Given the description of an element on the screen output the (x, y) to click on. 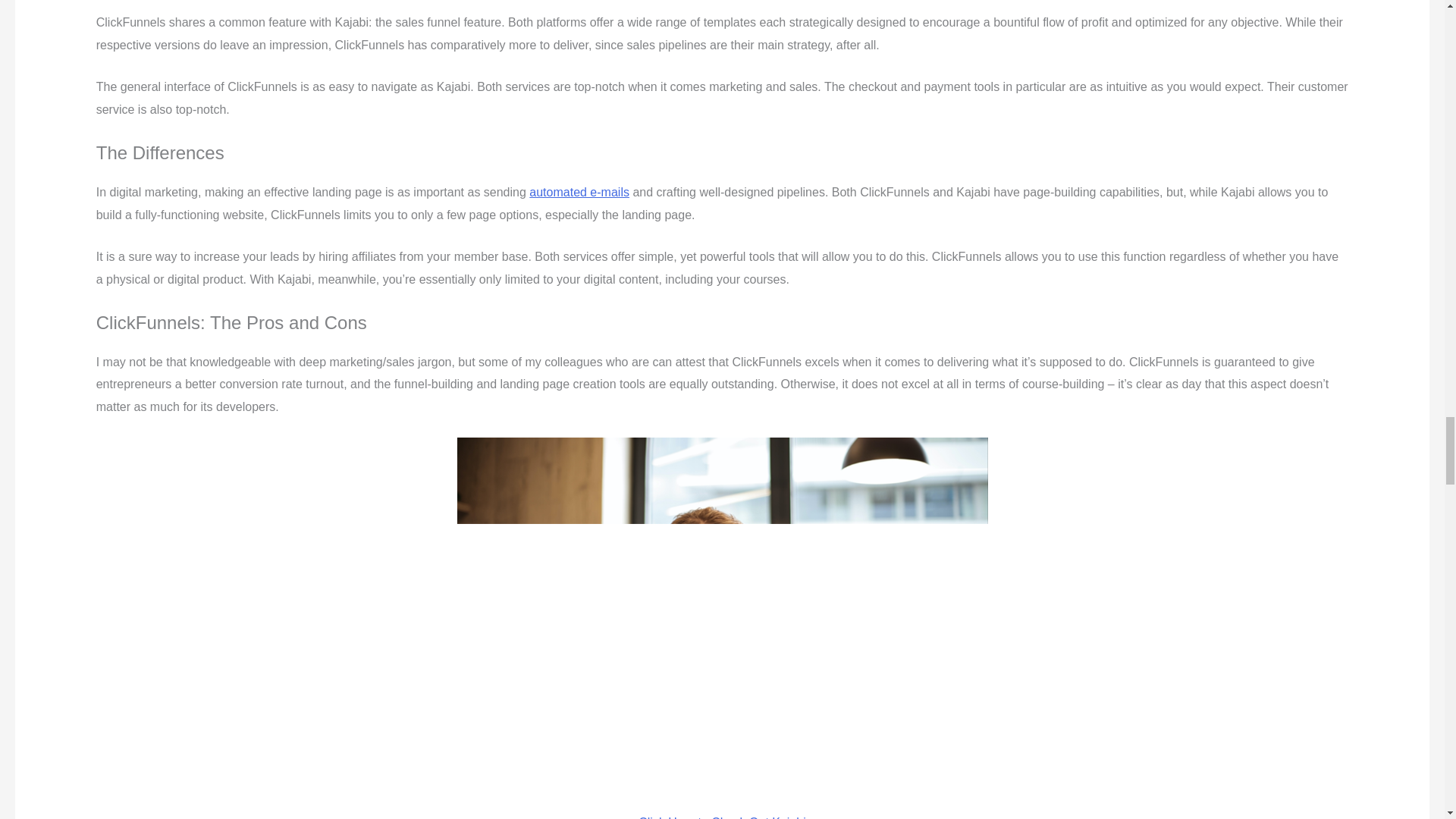
automated e-mails (578, 192)
